Given the description of an element on the screen output the (x, y) to click on. 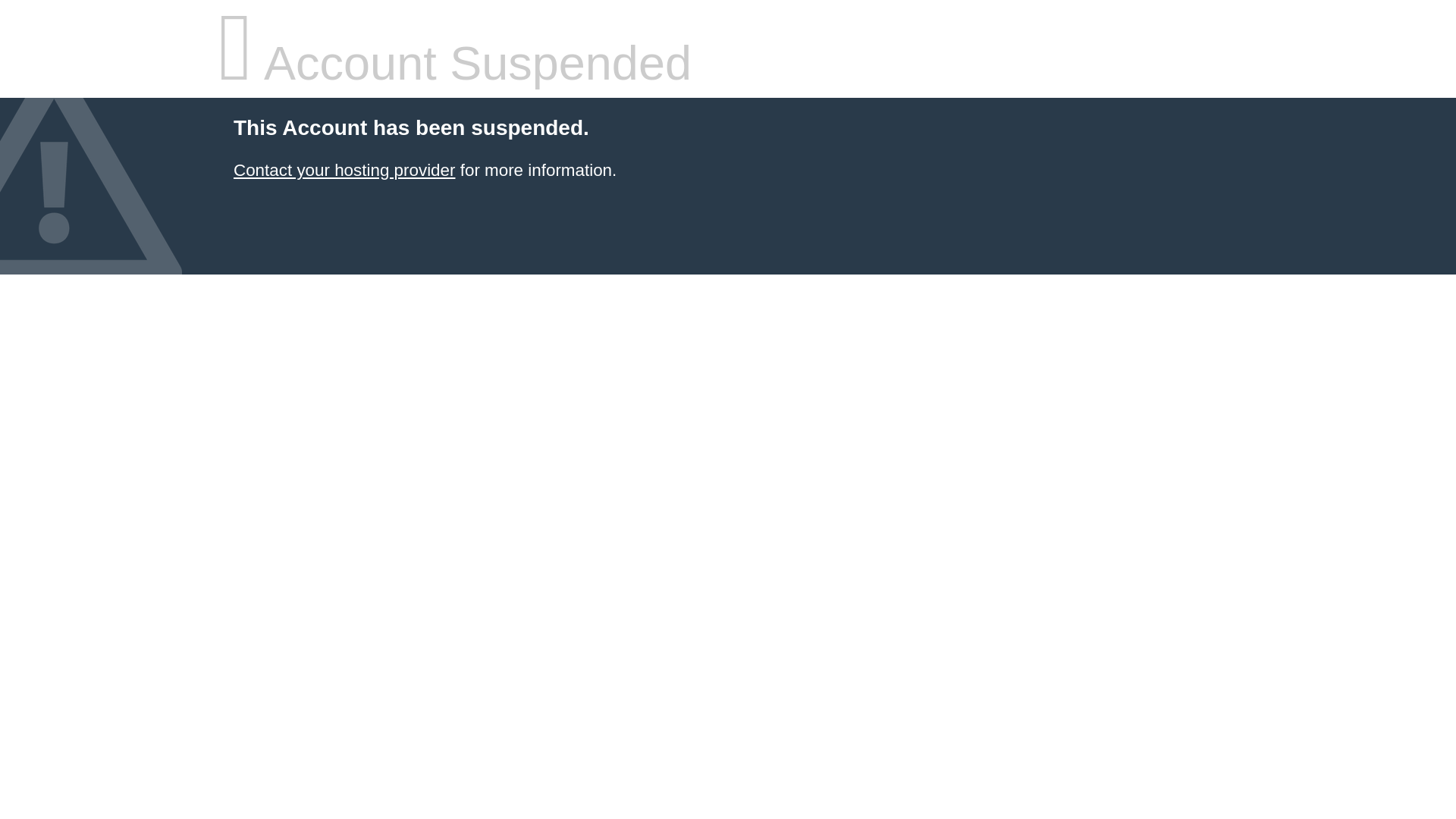
Contact your hosting provider (343, 169)
